Given the description of an element on the screen output the (x, y) to click on. 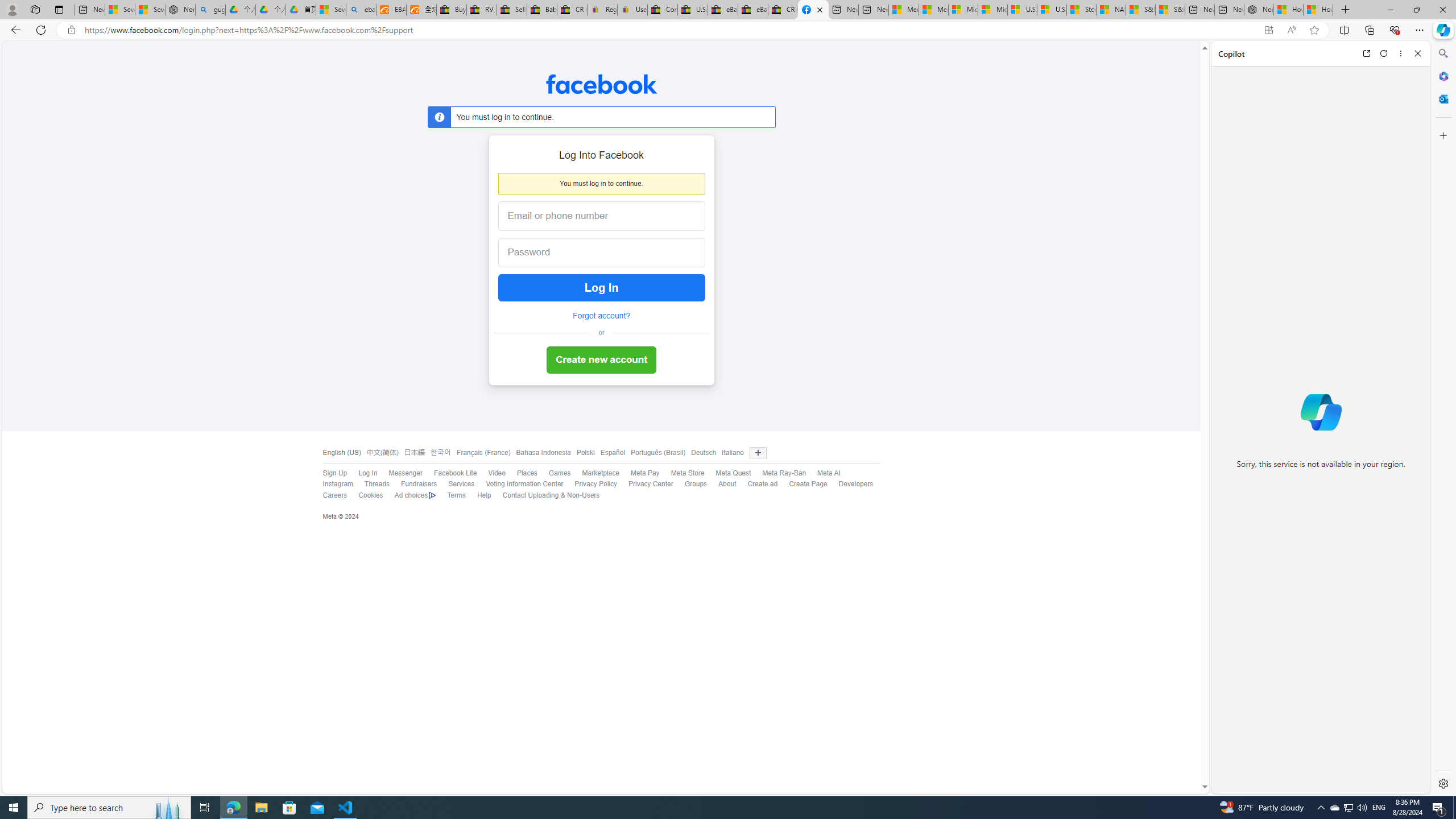
Places (526, 473)
Fundraisers (412, 484)
Privacy Center (650, 483)
English (US) (341, 452)
Meta Quest (727, 473)
Video (490, 473)
Create Page (808, 483)
Cookies (370, 494)
Video (496, 473)
Threads (377, 483)
Baby Keepsakes & Announcements for sale | eBay (542, 9)
Email or phone number (600, 216)
Fundraisers (418, 483)
Terms (455, 494)
